Given the description of an element on the screen output the (x, y) to click on. 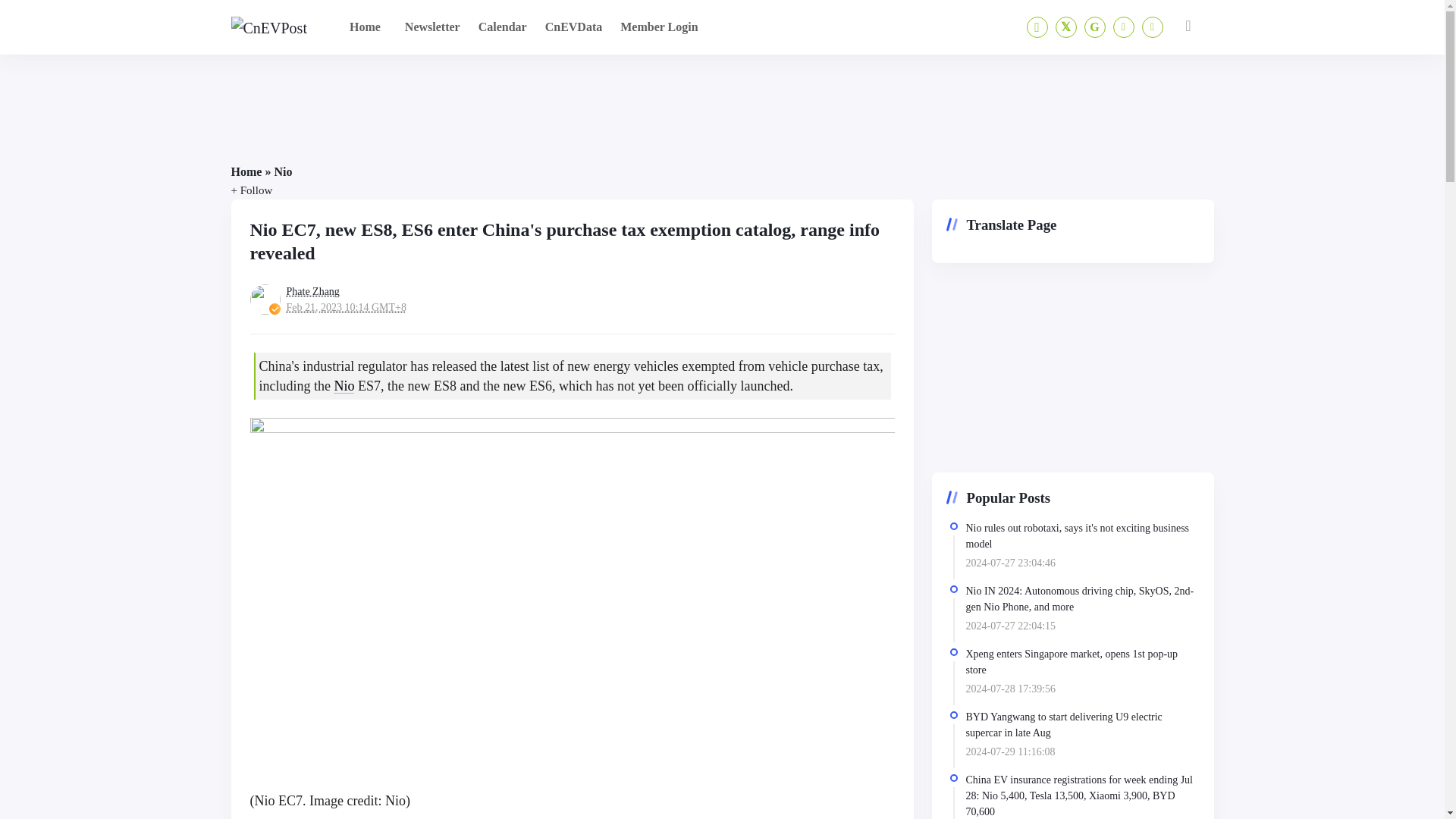
Member Login (658, 27)
Home (365, 27)
Nio (343, 385)
G (1094, 26)
CnEVData (573, 27)
Nio (282, 171)
Home (246, 171)
Calendar (501, 27)
Newsletter (431, 27)
